Given the description of an element on the screen output the (x, y) to click on. 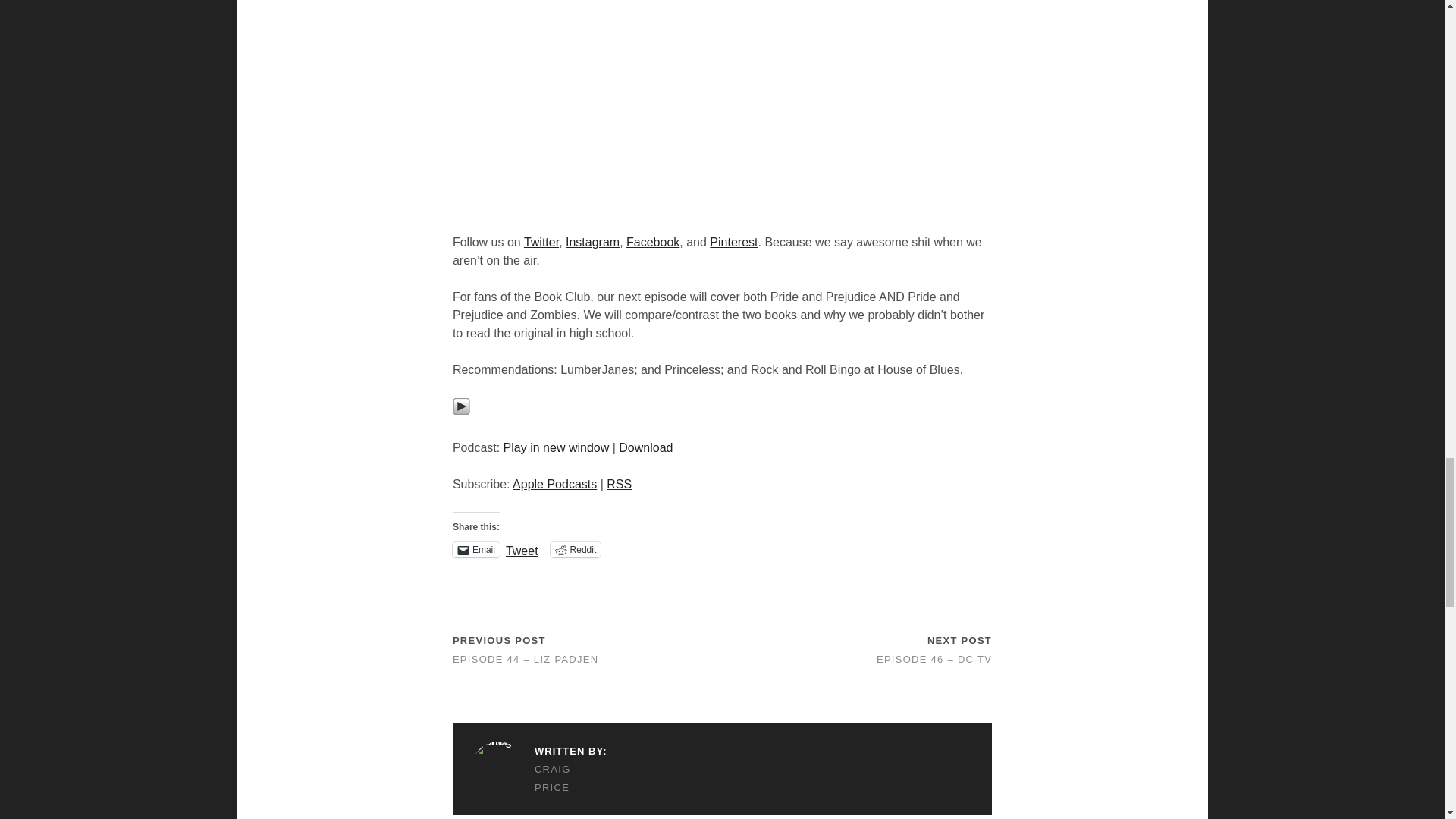
Apple Podcasts (554, 483)
Facebook (652, 241)
Subscribe on Apple Podcasts (554, 483)
RSS (619, 483)
Play (461, 406)
Reddit (575, 549)
Subscribe via RSS (619, 483)
Play in new window (556, 447)
Twitter (541, 241)
Download (645, 447)
Tweet (521, 549)
Download (645, 447)
Play in new window (556, 447)
Instagram (593, 241)
Pinterest (733, 241)
